Given the description of an element on the screen output the (x, y) to click on. 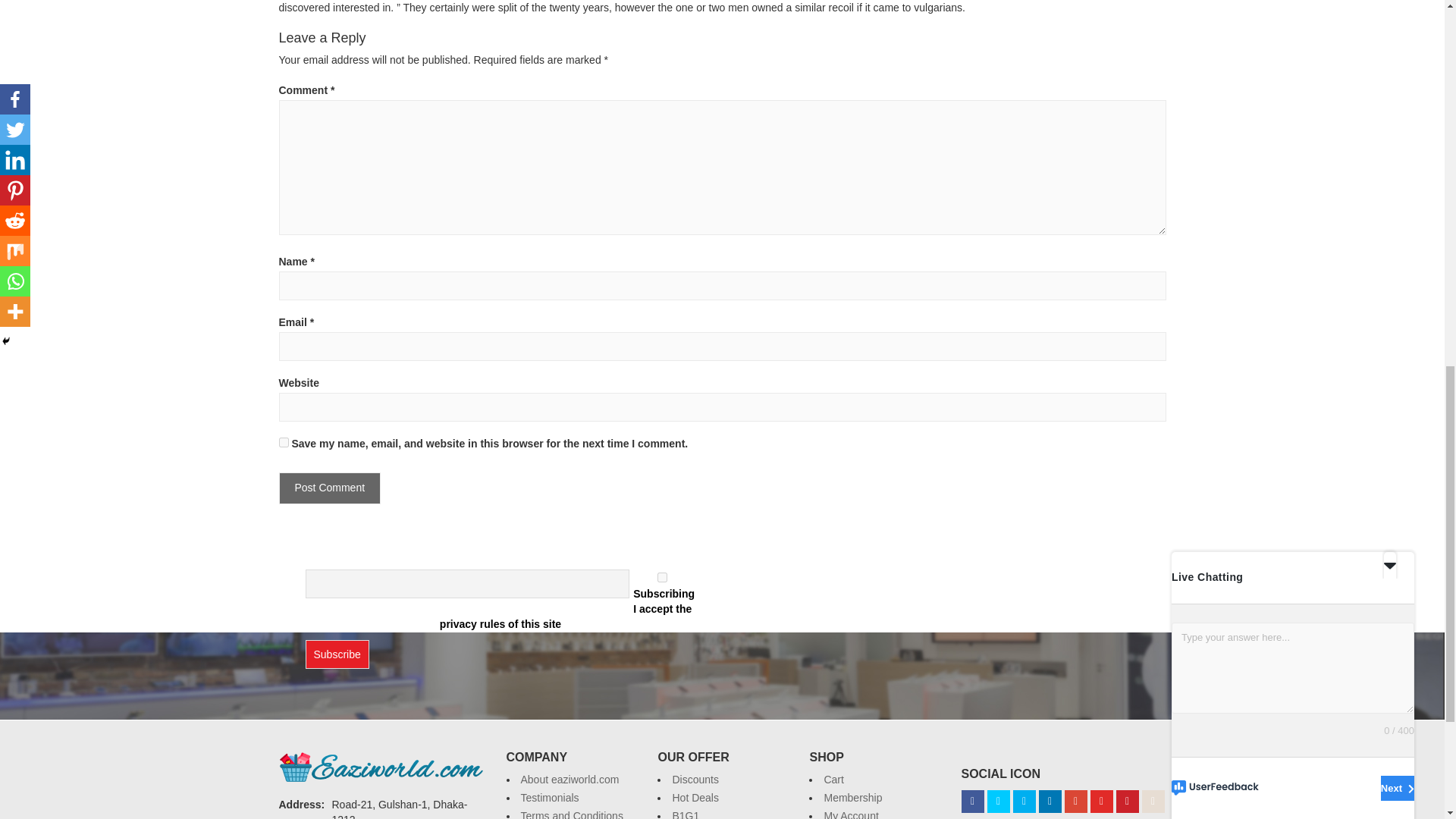
yes (283, 442)
Post Comment (330, 488)
Subscribe (336, 654)
on (662, 577)
